Given the description of an element on the screen output the (x, y) to click on. 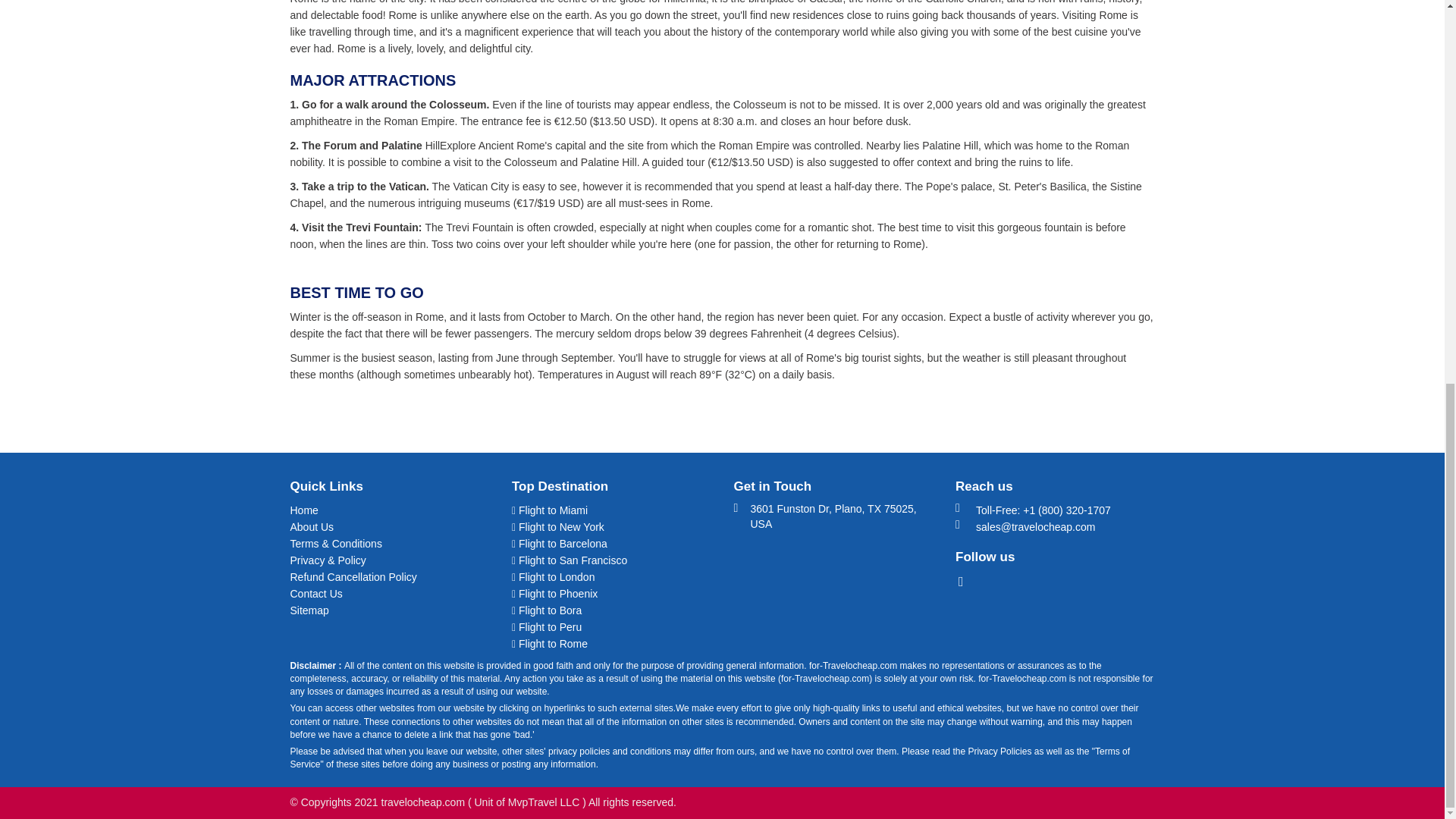
Flight to Peru (611, 627)
About Us (389, 526)
Flight to Bora (611, 610)
Flight to San Francisco (611, 560)
Flight to Barcelona (611, 543)
Flight to Miami (611, 510)
Flight to Phoenix (611, 593)
Contact Us (389, 593)
Flight to New York (611, 526)
Sitemap (389, 610)
Home (389, 510)
Refund Cancellation Policy (389, 576)
Flight to London (611, 576)
Flight to Rome (611, 643)
